Given the description of an element on the screen output the (x, y) to click on. 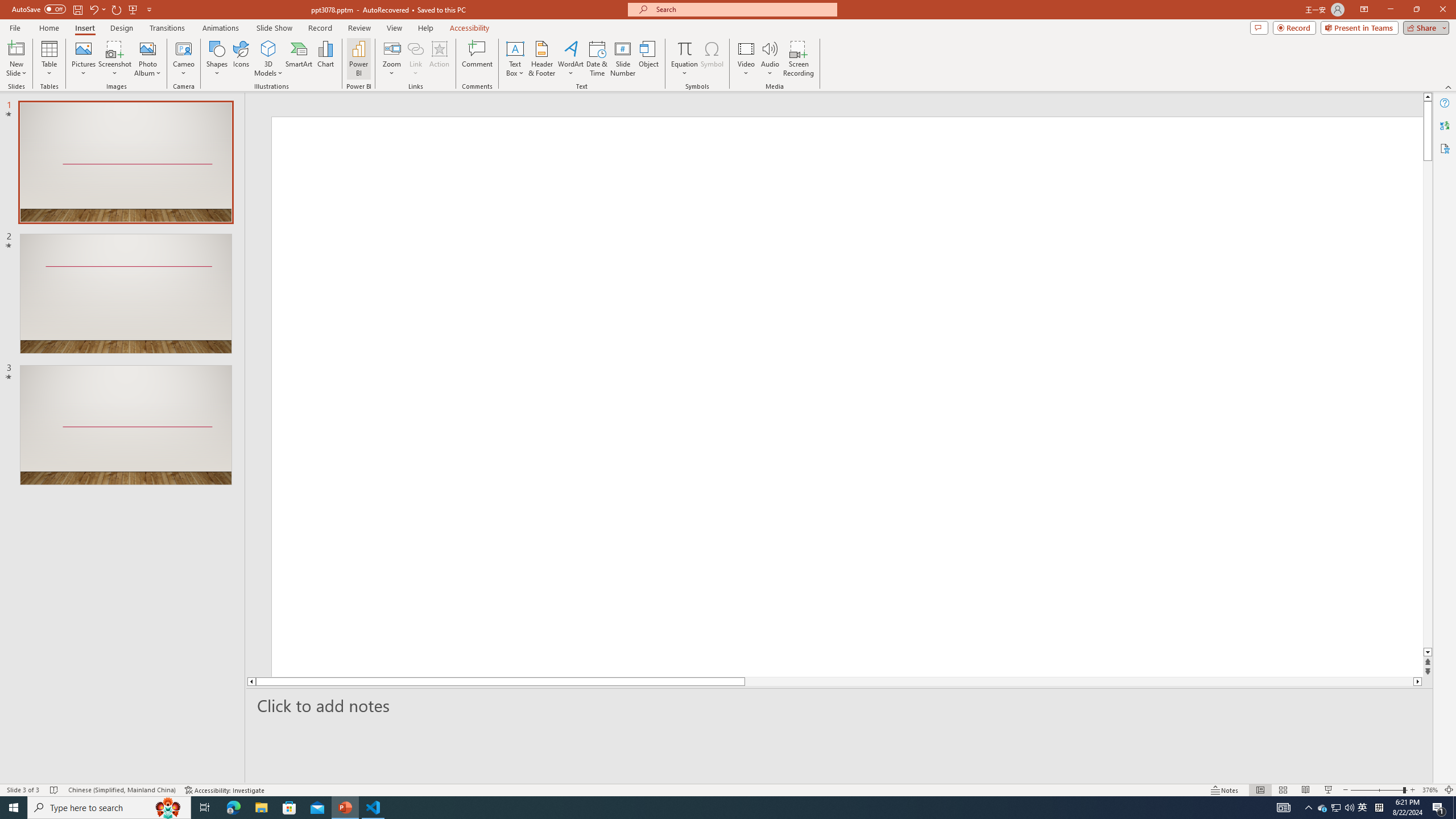
Screenshot (114, 58)
Cameo (183, 58)
New Photo Album... (147, 48)
Line down (1427, 652)
3D Models (268, 58)
Translator (1444, 125)
Title TextBox (790, 476)
3D Models (268, 48)
Link (415, 48)
